Given the description of an element on the screen output the (x, y) to click on. 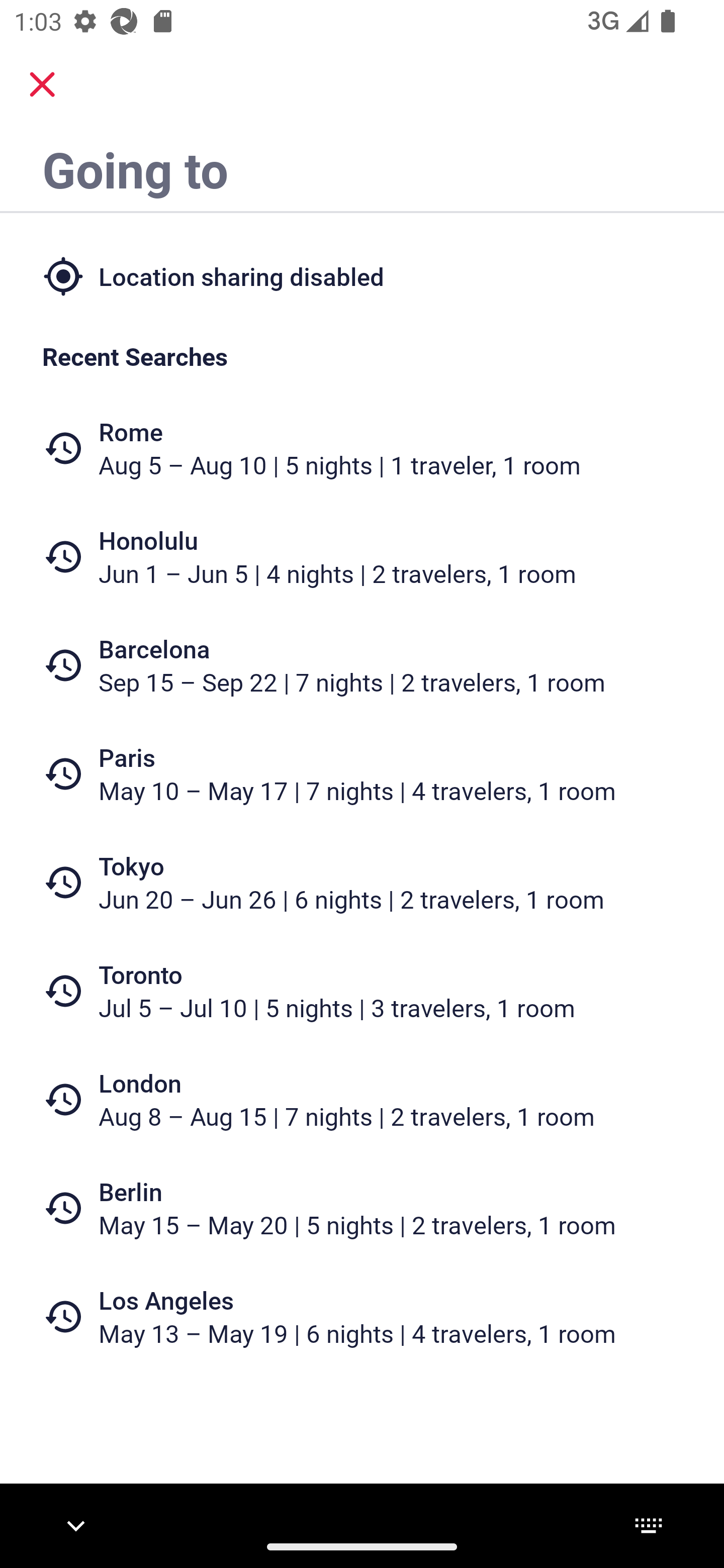
close. (42, 84)
Location sharing disabled (362, 275)
